Given the description of an element on the screen output the (x, y) to click on. 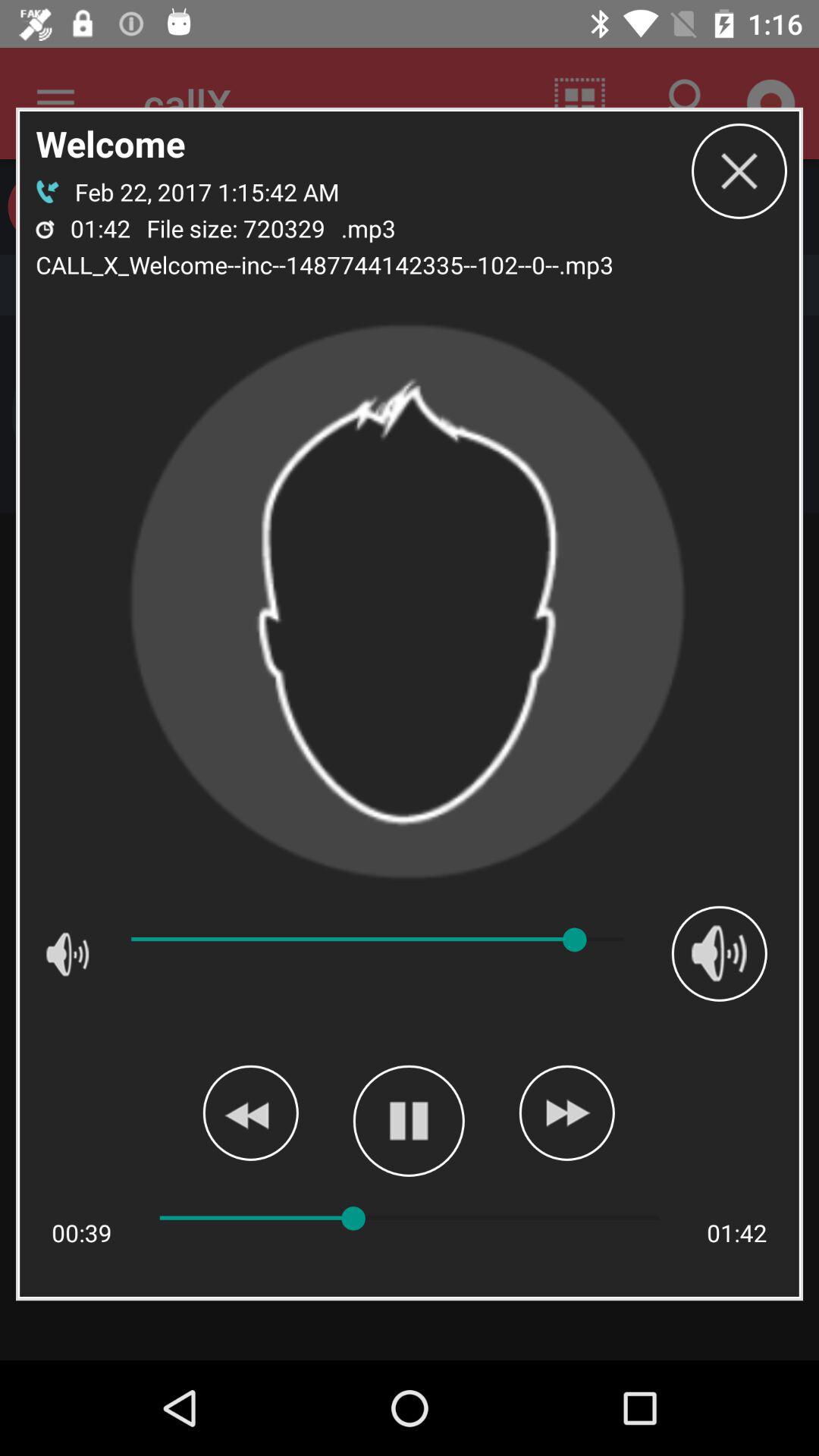
fast forward or skip play (566, 1112)
